Given the description of an element on the screen output the (x, y) to click on. 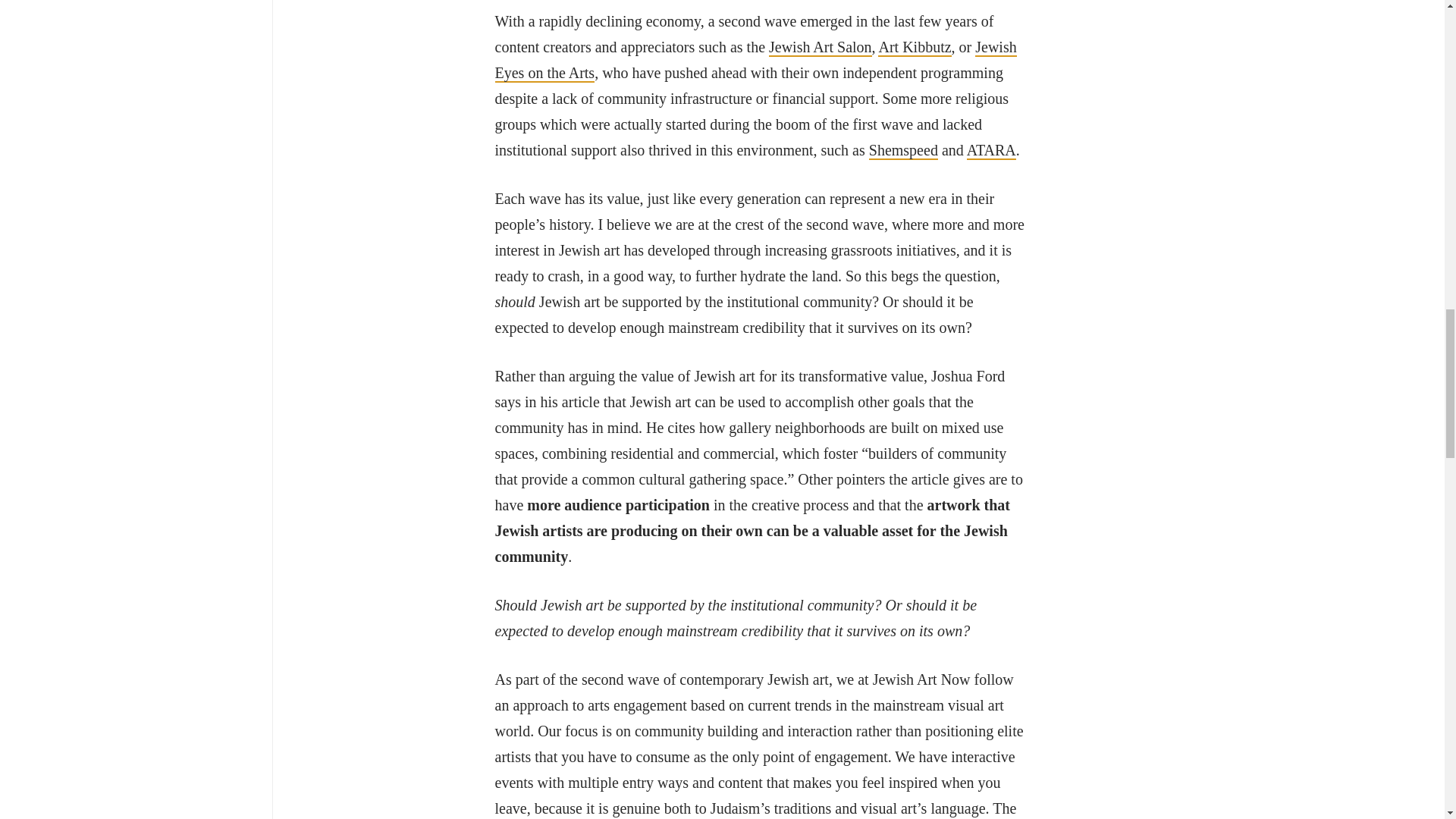
Jewish Art Salon (820, 47)
Jewish Eyes on the Arts (755, 60)
Art Kibbutz (913, 47)
Shemspeed (903, 150)
ATARA (991, 150)
